Given the description of an element on the screen output the (x, y) to click on. 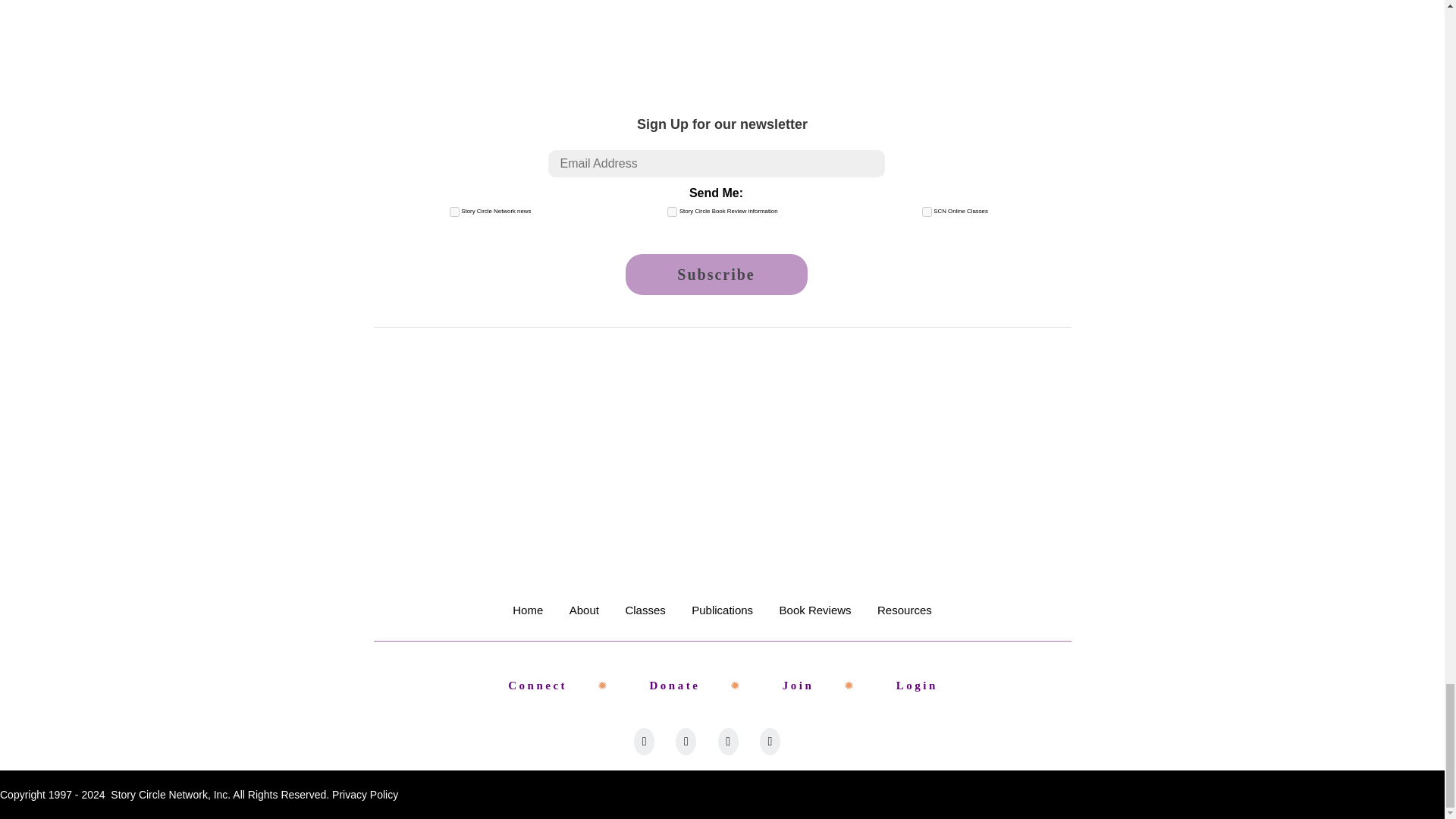
Story Circle Book Review information (671, 212)
Subscribe (715, 273)
SCN Online Classes (926, 212)
Story Circle Network news (454, 212)
